Given the description of an element on the screen output the (x, y) to click on. 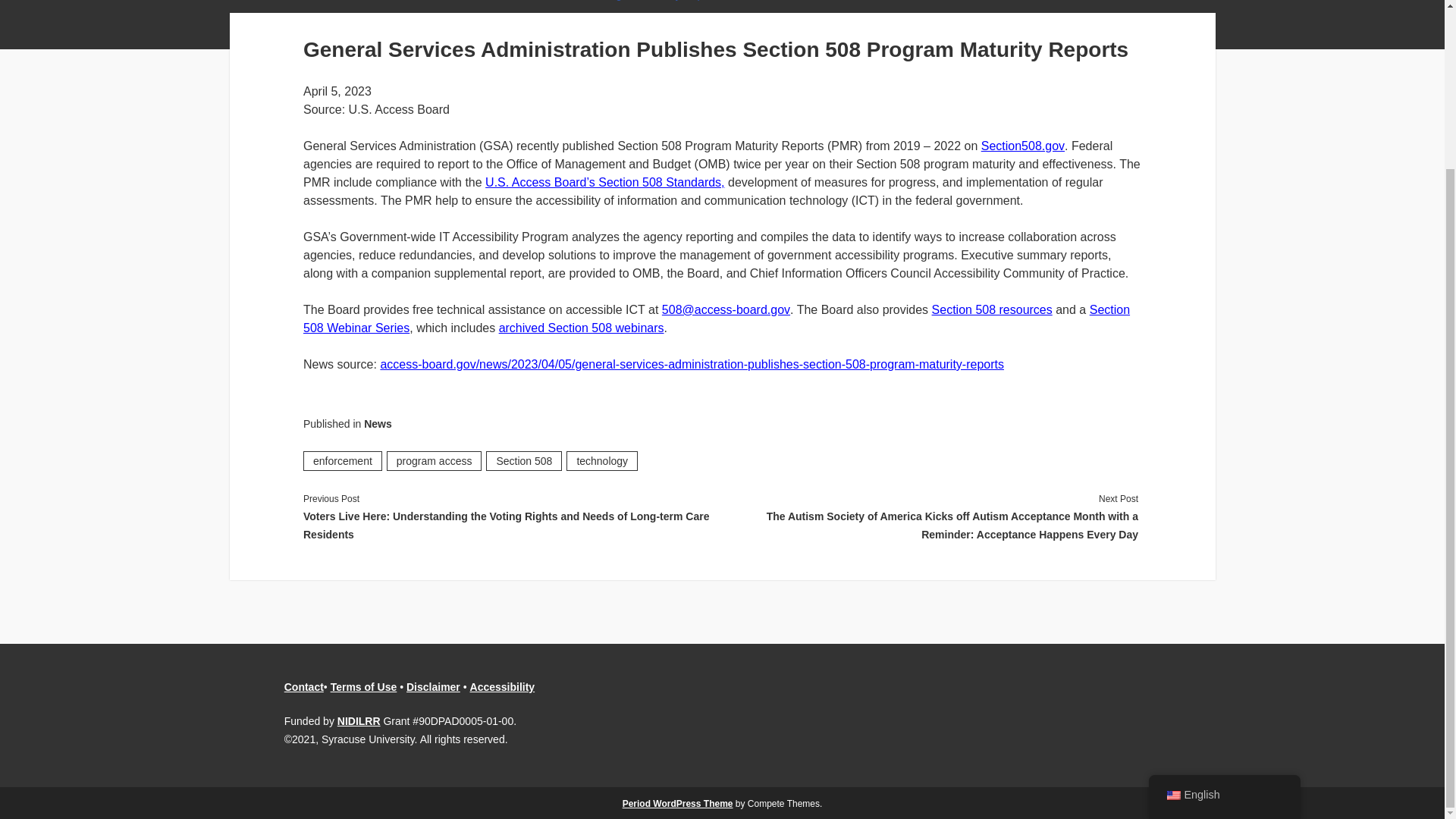
View all posts tagged technology (601, 460)
News Posts (296, 0)
View all posts tagged enforcement (341, 460)
View all posts tagged program access (434, 460)
View all posts tagged Section 508 (524, 460)
English (1172, 592)
View all posts in News (377, 423)
Section508.gov (1022, 145)
